Given the description of an element on the screen output the (x, y) to click on. 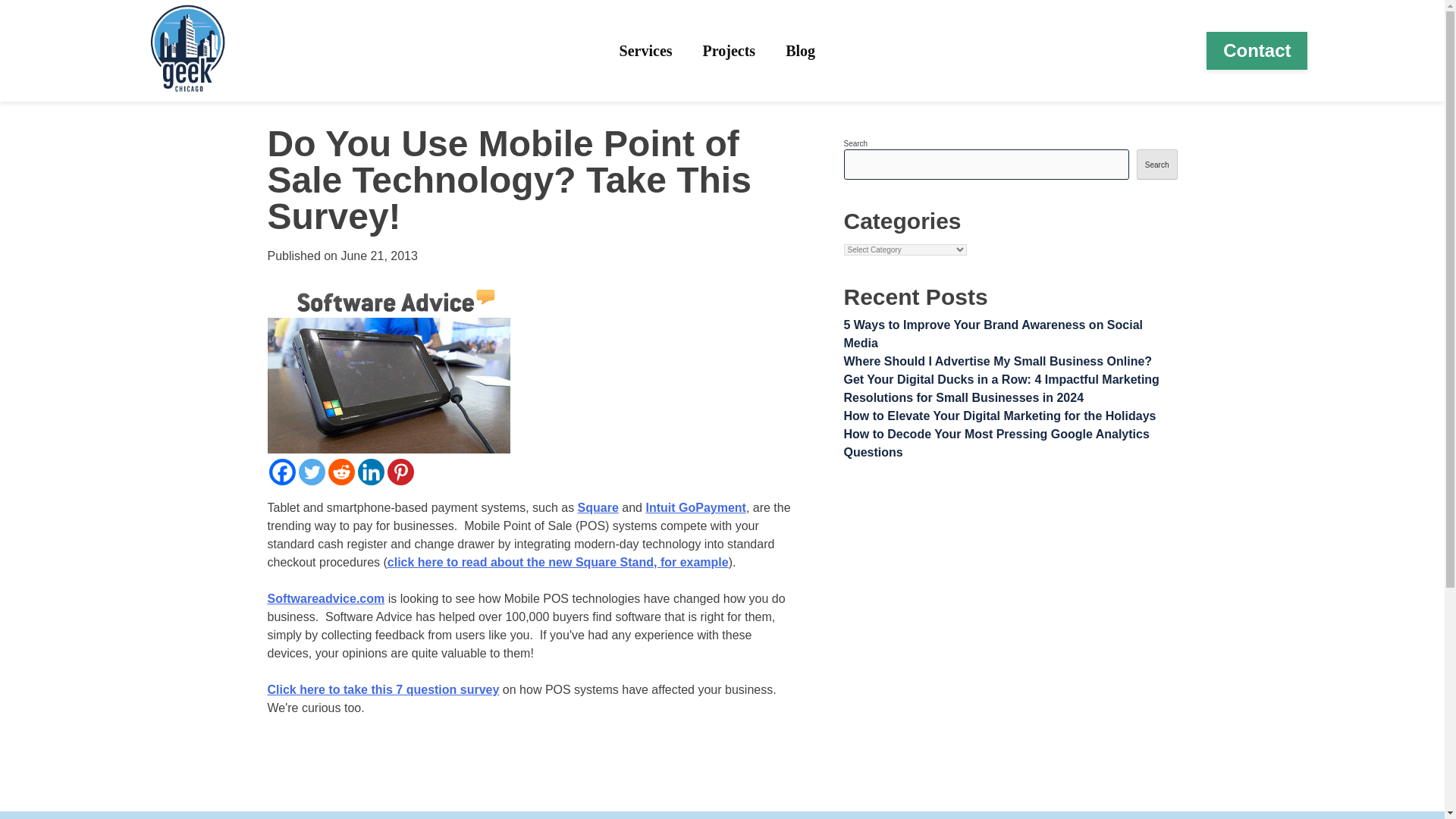
Square (598, 507)
Search (1157, 164)
Softwareadvice.com (325, 598)
Blog (800, 50)
Facebook (281, 471)
5 Ways to Improve Your Brand Awareness on Social Media (992, 333)
Intuit GoPayment (695, 507)
Twitter (311, 471)
Projects (729, 50)
Where Should I Advertise My Small Business Online? (997, 360)
Pinterest (400, 471)
Services (646, 50)
Contact (1257, 50)
Click here to take this 7 question survey (382, 689)
How to Decode Your Most Pressing Google Analytics Questions (995, 442)
